Given the description of an element on the screen output the (x, y) to click on. 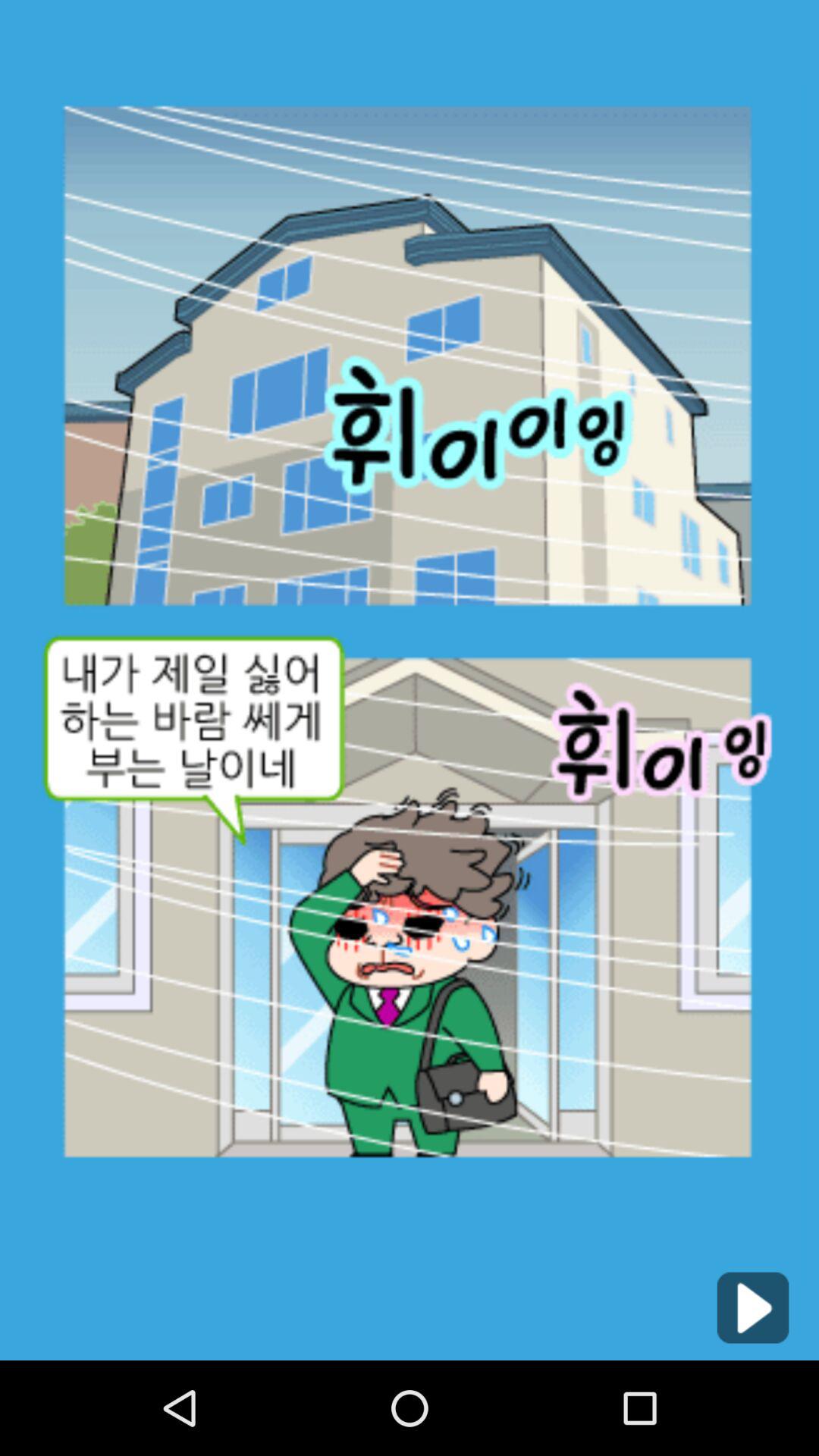
click icon at the bottom right corner (752, 1307)
